Given the description of an element on the screen output the (x, y) to click on. 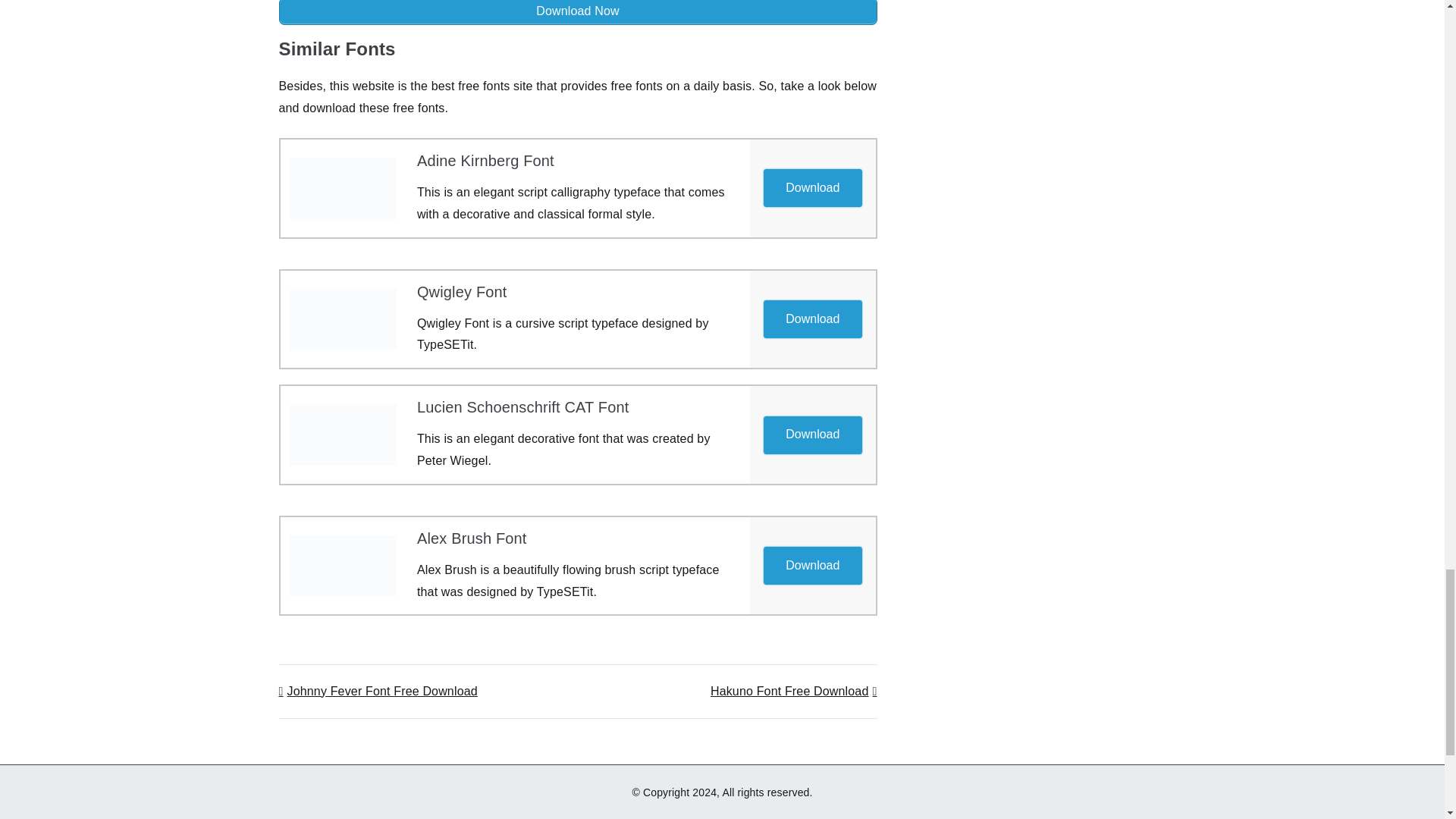
Download (813, 433)
Download (813, 187)
Johnny Fever Font Free Download (378, 690)
Hakuno Font Free Download (793, 690)
Download Now (578, 12)
Download (811, 187)
Download (811, 434)
Download (811, 565)
Download (813, 318)
Download (811, 319)
Download (813, 564)
